Given the description of an element on the screen output the (x, y) to click on. 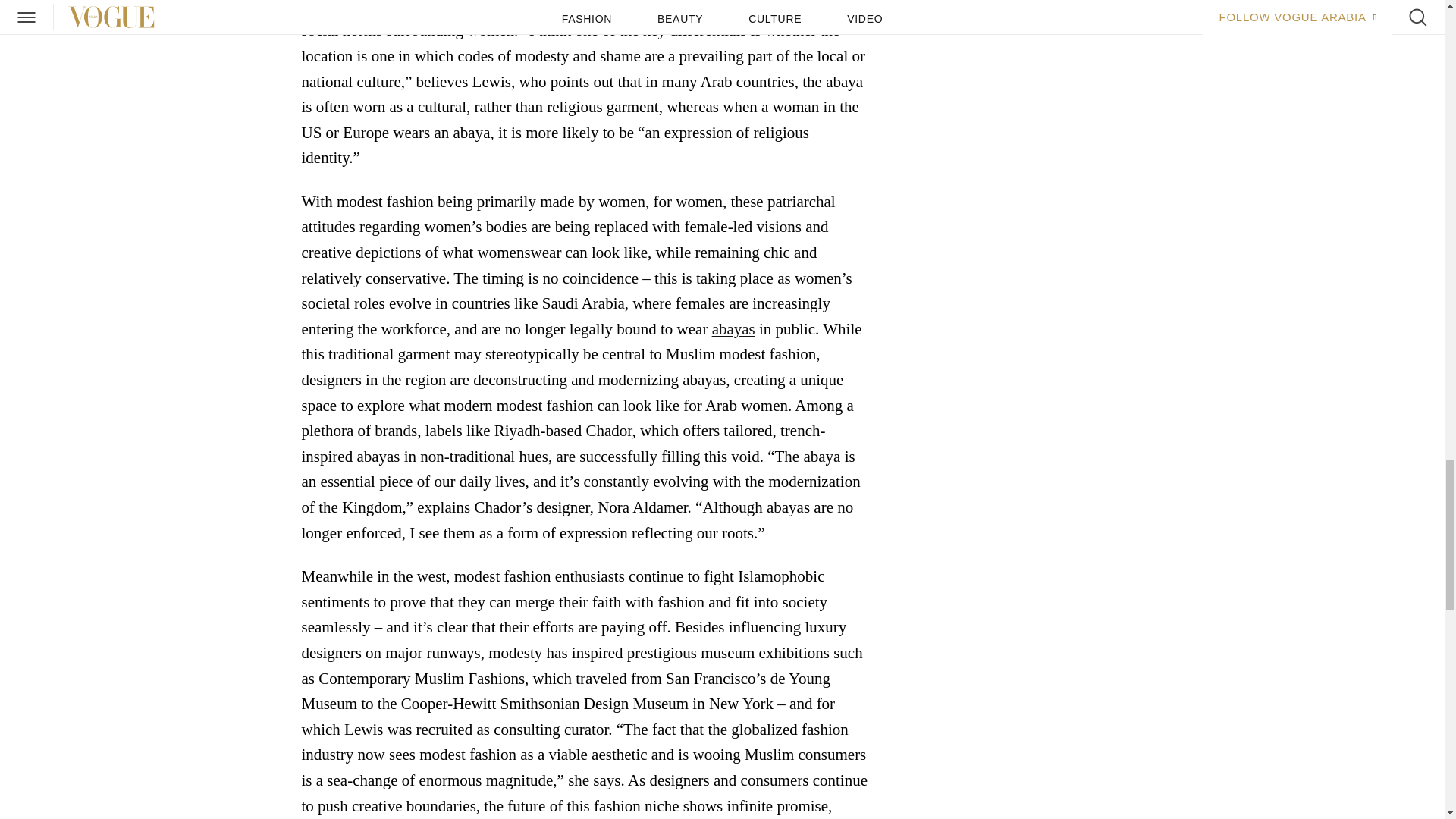
abayas (733, 329)
